Given the description of an element on the screen output the (x, y) to click on. 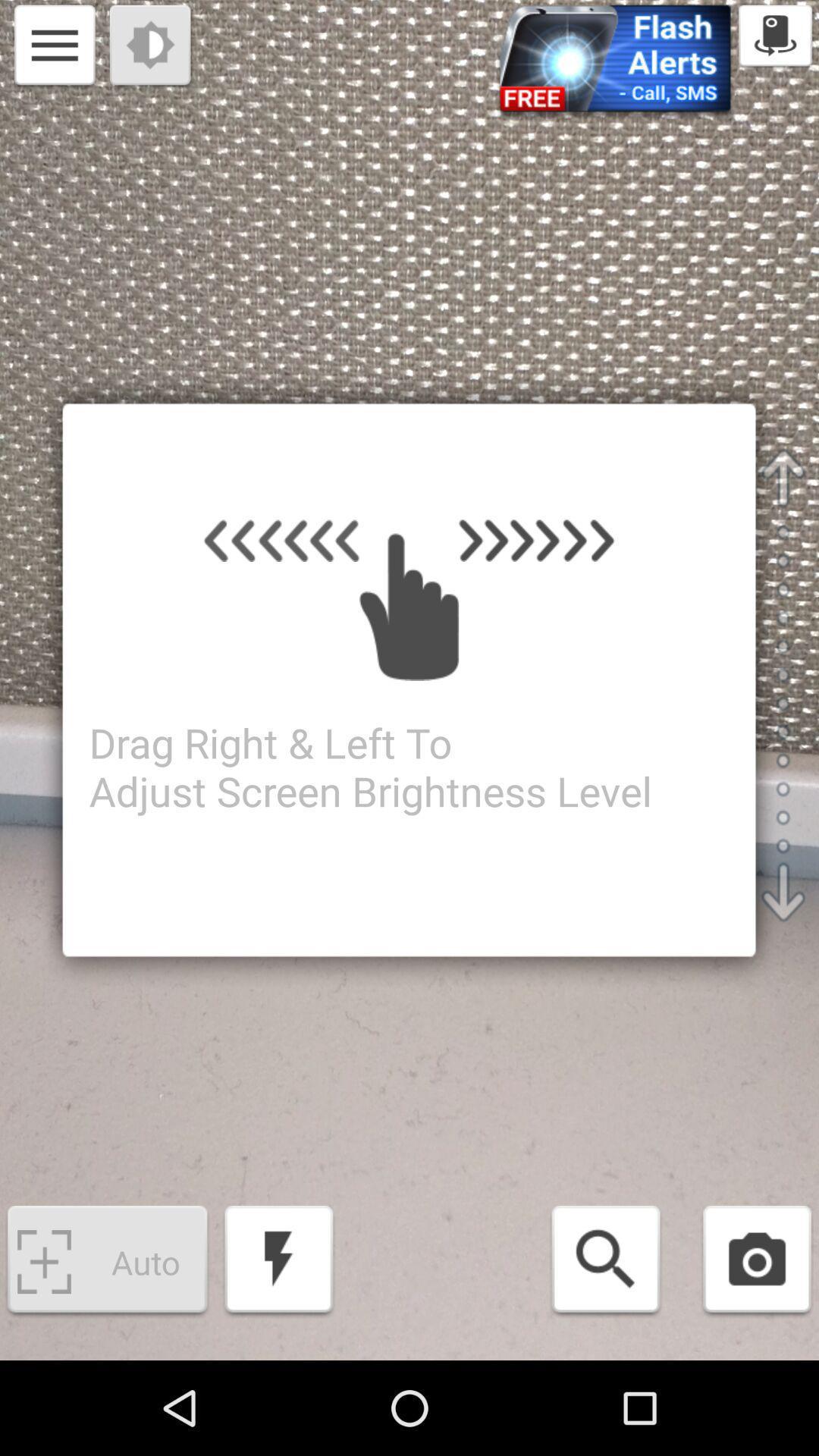
open the side menu (54, 47)
